Given the description of an element on the screen output the (x, y) to click on. 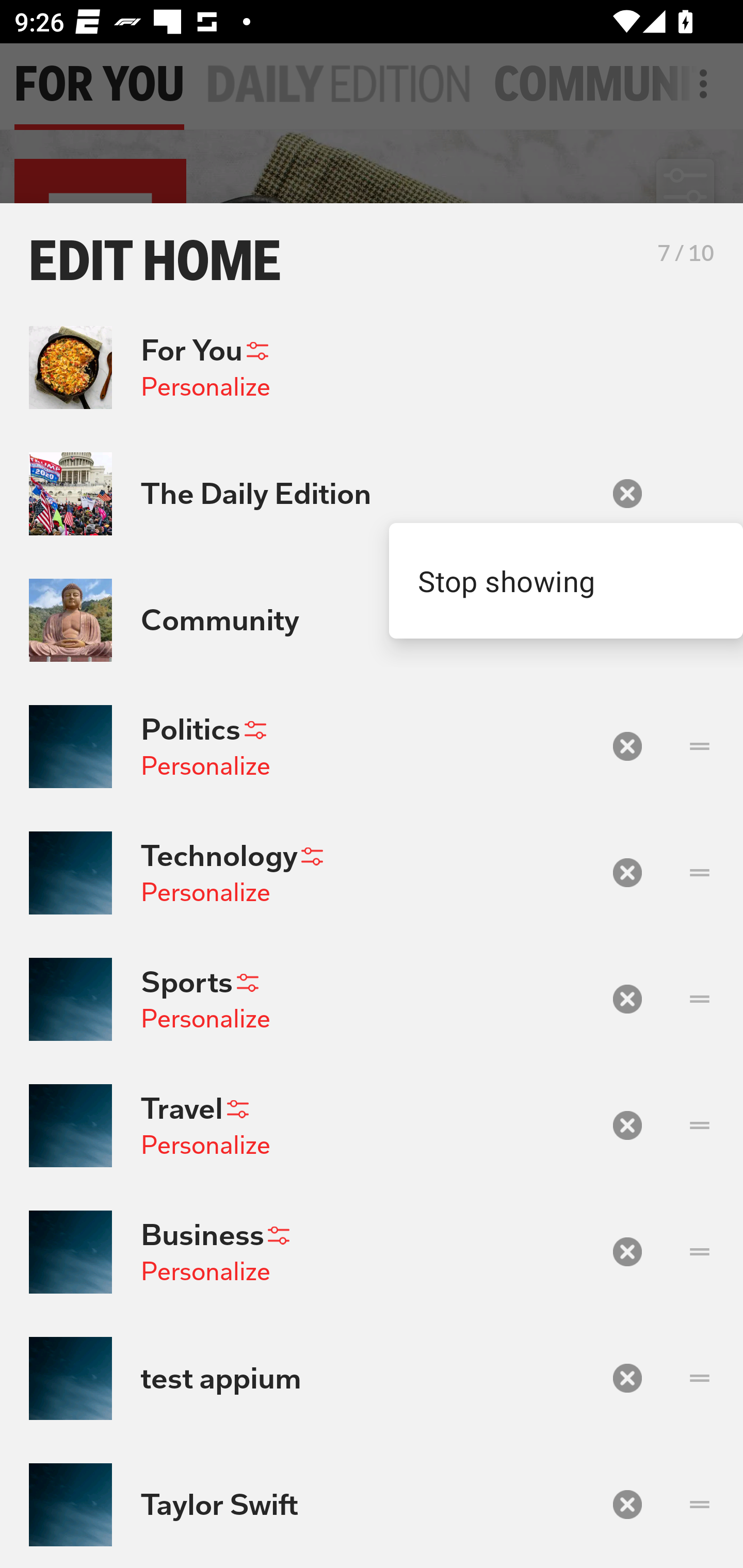
Stop showing (566, 580)
